Given the description of an element on the screen output the (x, y) to click on. 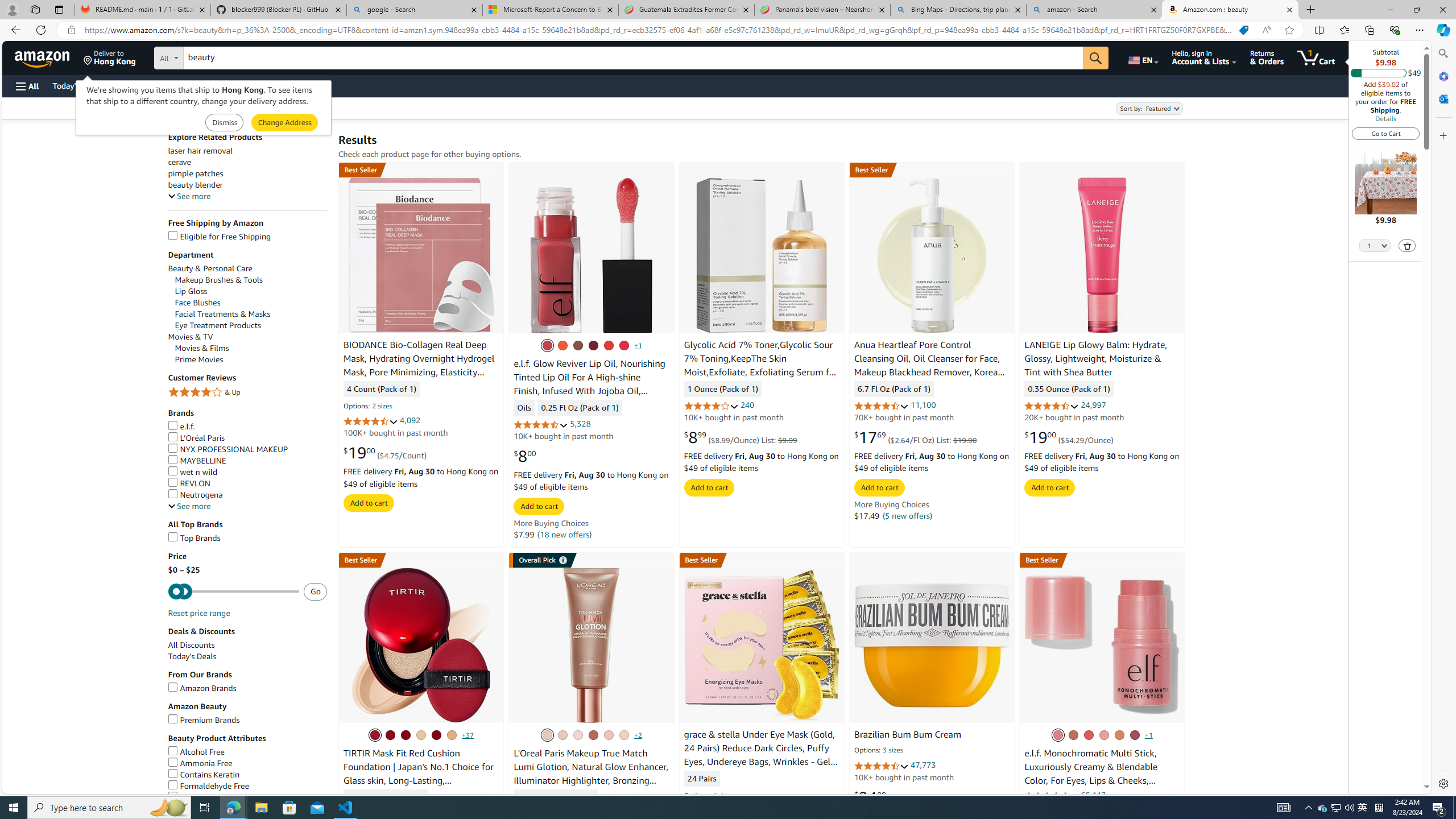
e.l.f. (181, 426)
pimple patches (247, 173)
Medium (623, 734)
SOL DE JANEIRO Brazilian Bum Bum Cream (931, 644)
Brazilian Bum Bum Cream (907, 734)
4 sizes (722, 796)
2 sizes (381, 406)
Movies & Films (250, 347)
24,997 (1093, 404)
